Given the description of an element on the screen output the (x, y) to click on. 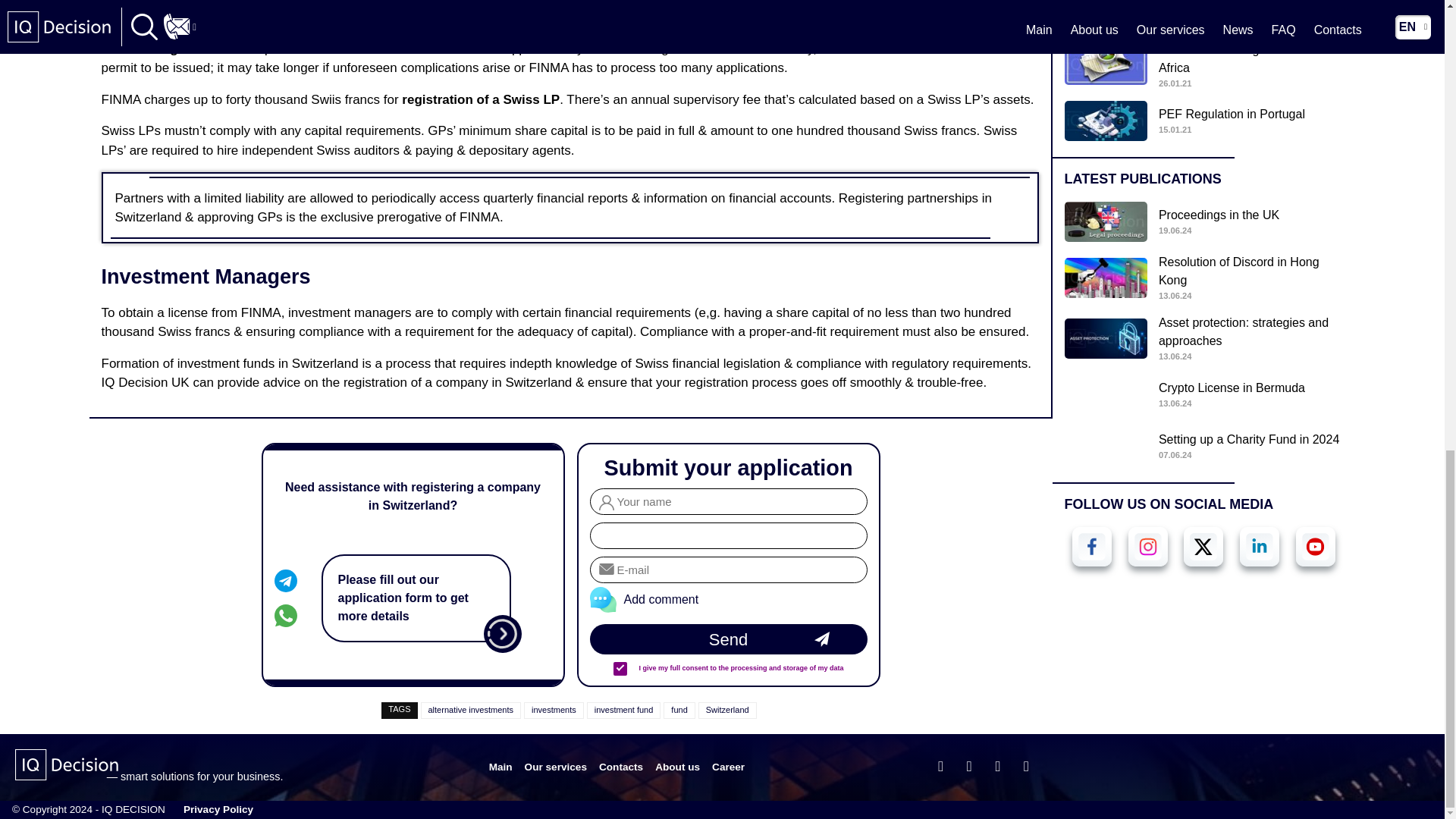
Send (728, 639)
fund (679, 709)
investment fund (623, 709)
Switzerland (727, 709)
investments (553, 709)
alternative investments (470, 709)
